Given the description of an element on the screen output the (x, y) to click on. 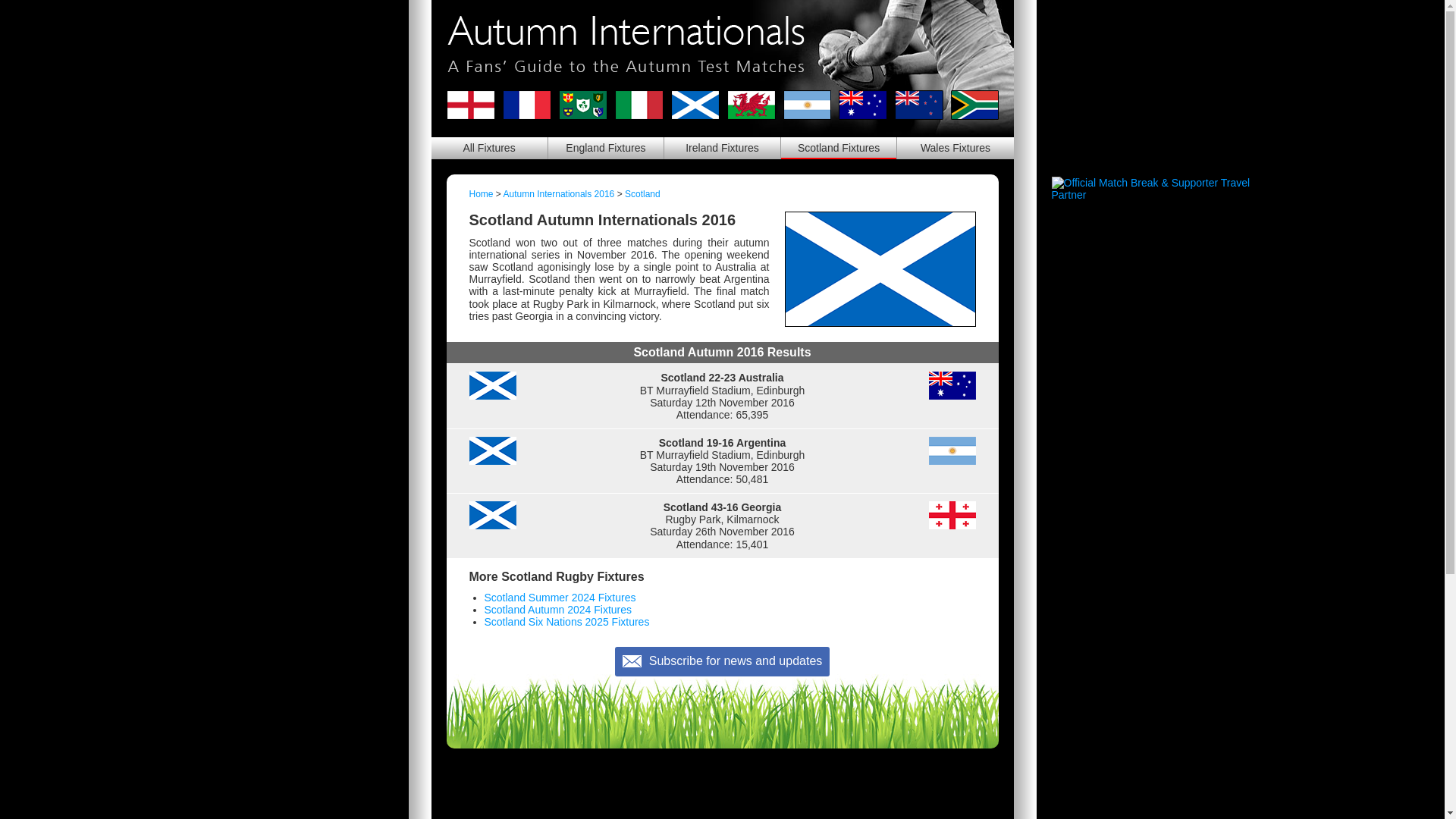
Home (480, 194)
Scotland Six Nations 2025 Fixtures (566, 621)
Ireland Autumn International Fixtures 2016 (721, 147)
Advertisement (721, 791)
England Fixtures (605, 147)
England Autumn International Fixtures 2016 (605, 147)
Autumn International Fixtures 2016 (488, 147)
Scotland 22-23 Australia (721, 395)
Scotland Summer 2024 Fixtures (558, 597)
